Given the description of an element on the screen output the (x, y) to click on. 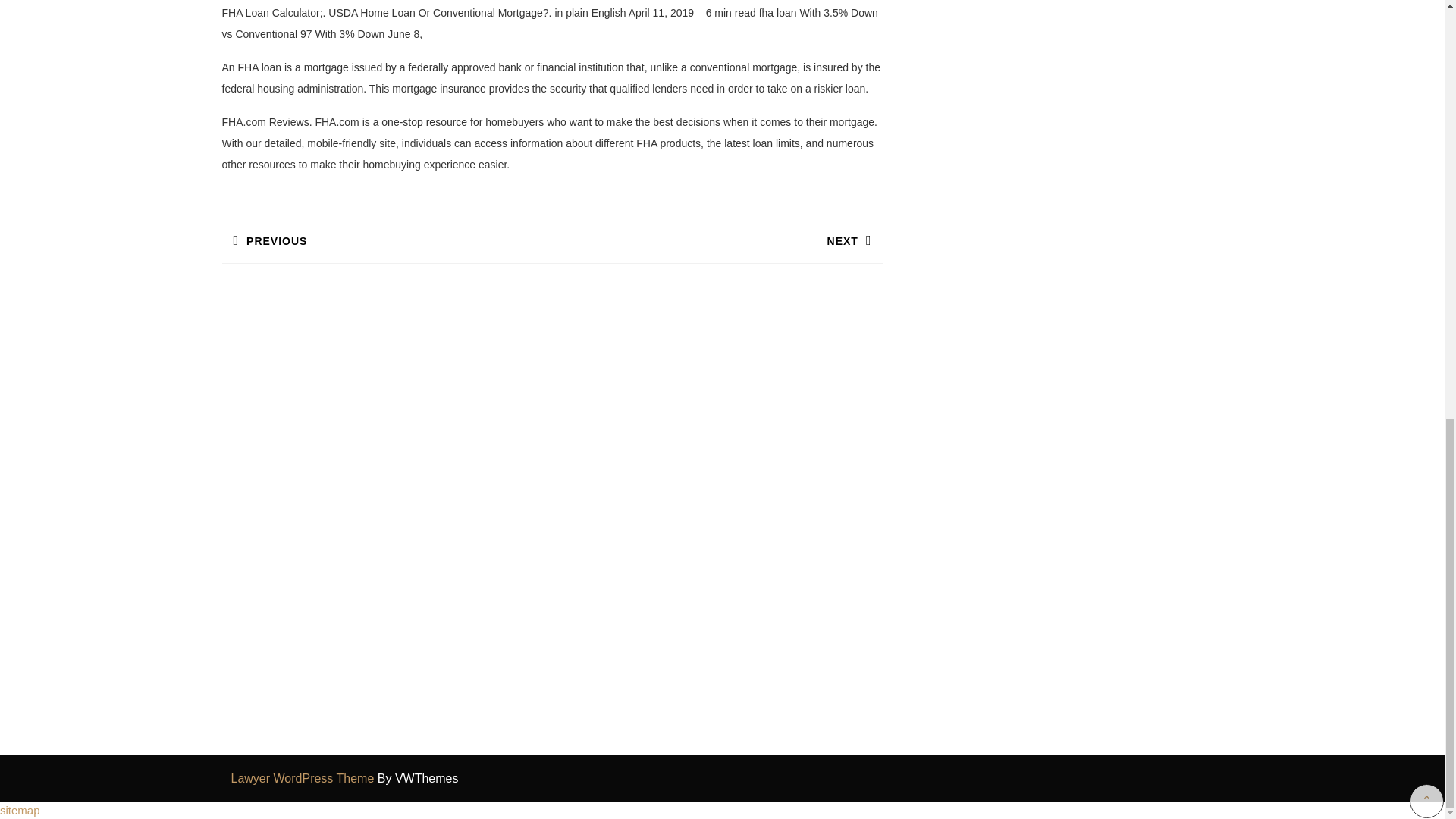
sitemap (386, 240)
Lawyer WordPress Theme (20, 809)
